Given the description of an element on the screen output the (x, y) to click on. 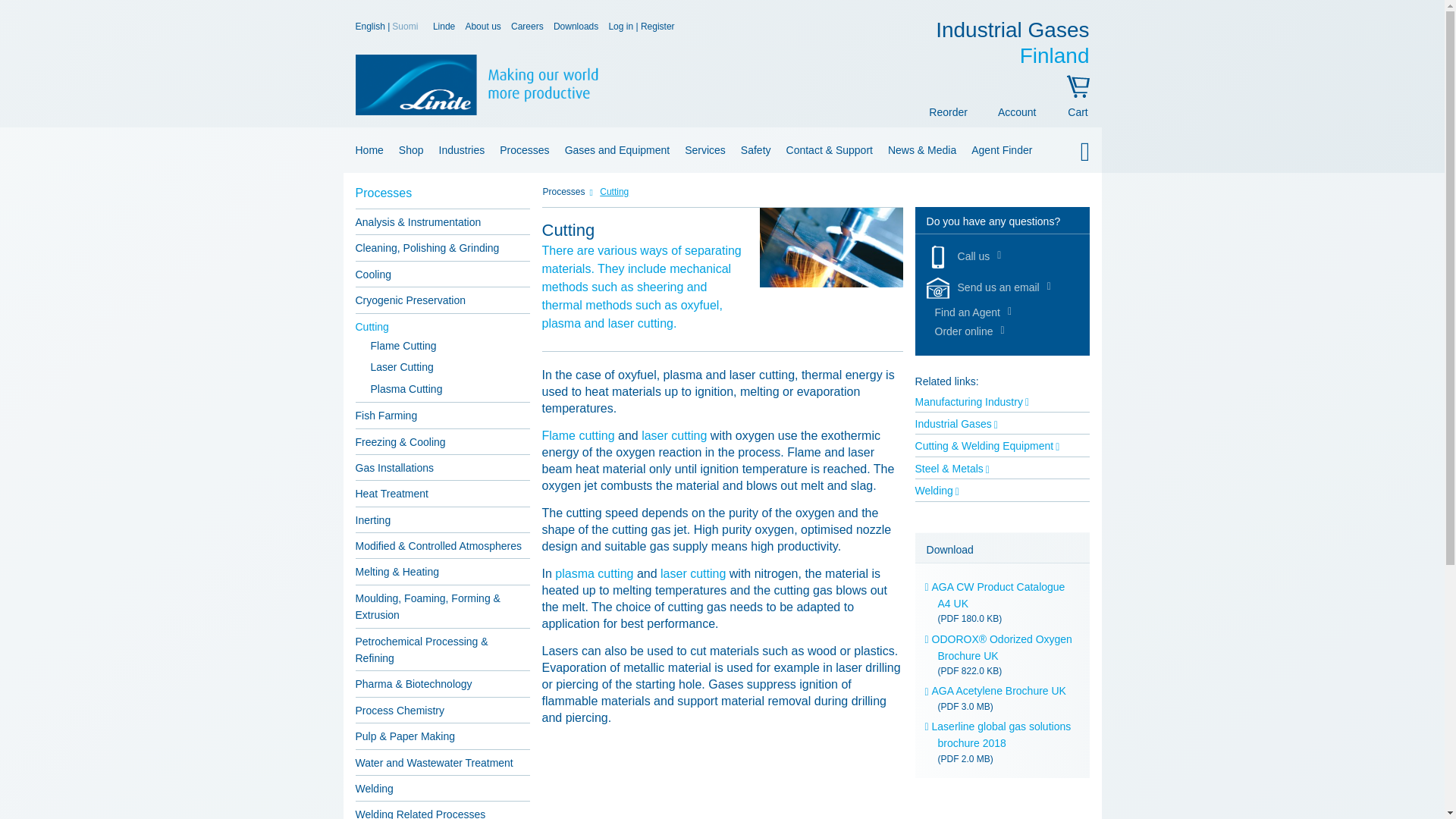
About us (482, 26)
Gas (721, 195)
English  (1012, 42)
Downloads (371, 26)
Home (575, 26)
Linde (366, 149)
Suomi  (443, 26)
Industries (405, 26)
Careers (461, 149)
